Given the description of an element on the screen output the (x, y) to click on. 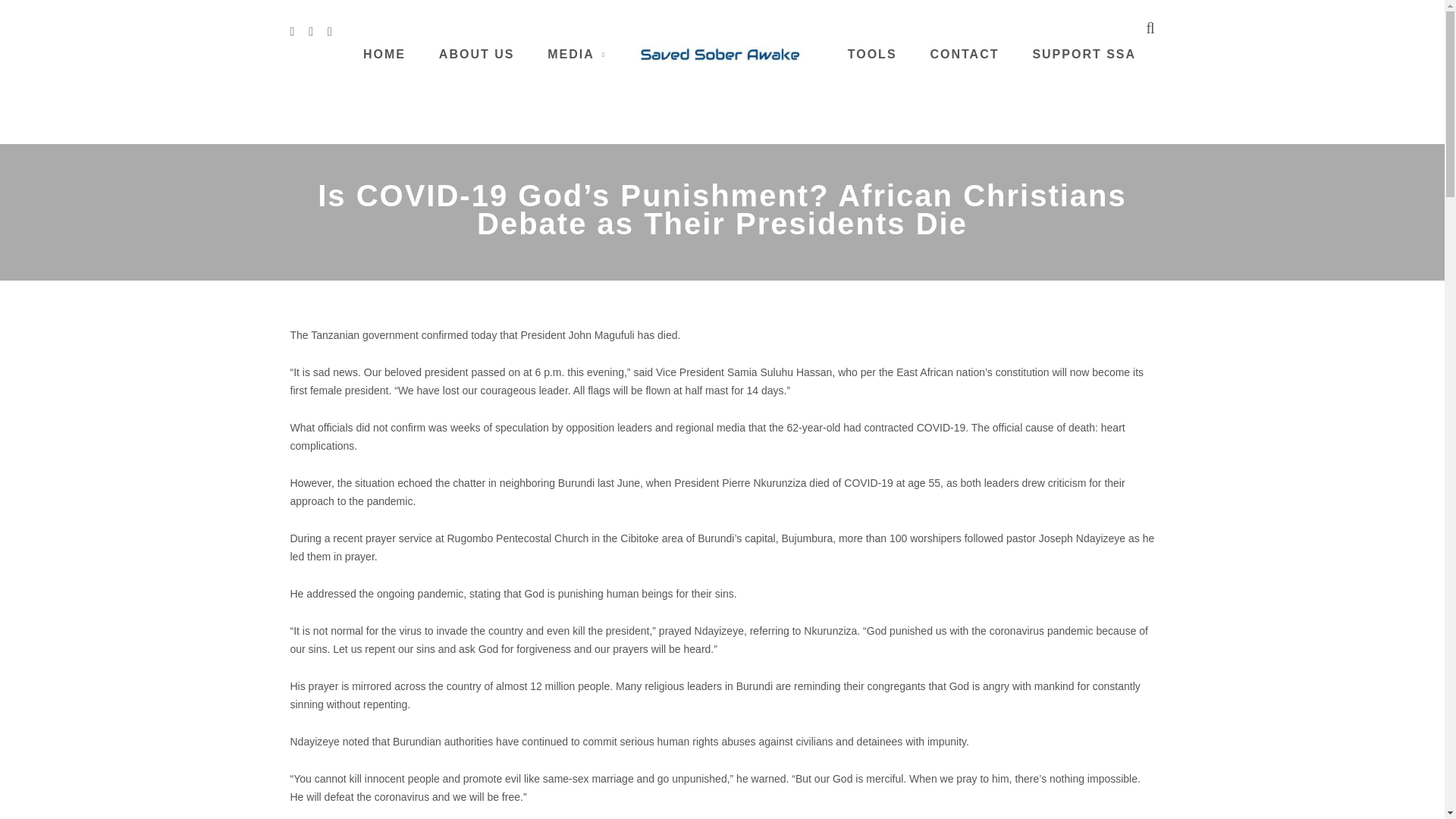
HOME (384, 53)
CONTACT (964, 53)
SUPPORT SSA (1083, 53)
MEDIA (570, 53)
TOOLS (871, 53)
ABOUT US (477, 53)
